Given the description of an element on the screen output the (x, y) to click on. 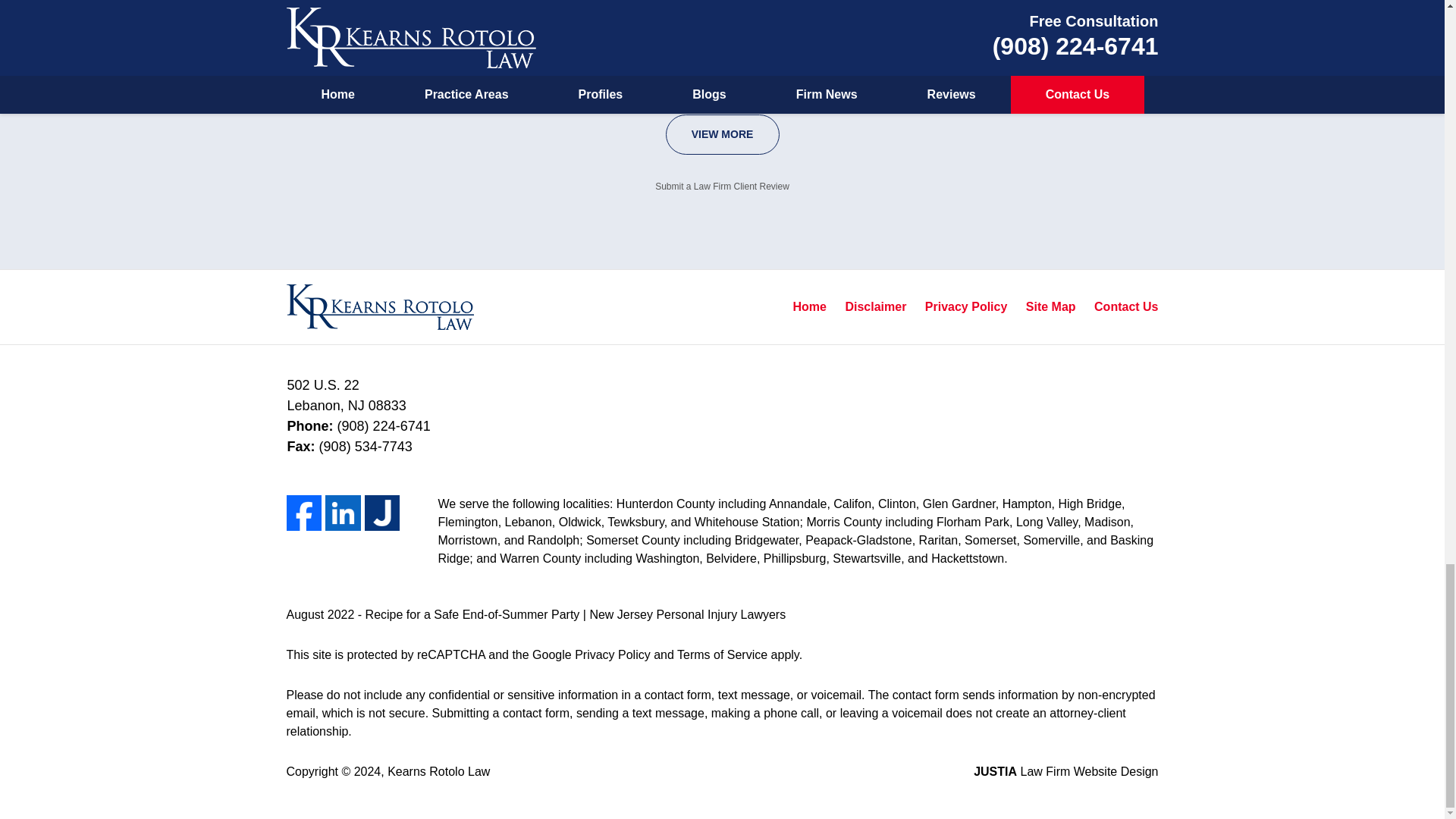
Justia (382, 512)
Facebook (303, 512)
LinkedIn (342, 512)
